Given the description of an element on the screen output the (x, y) to click on. 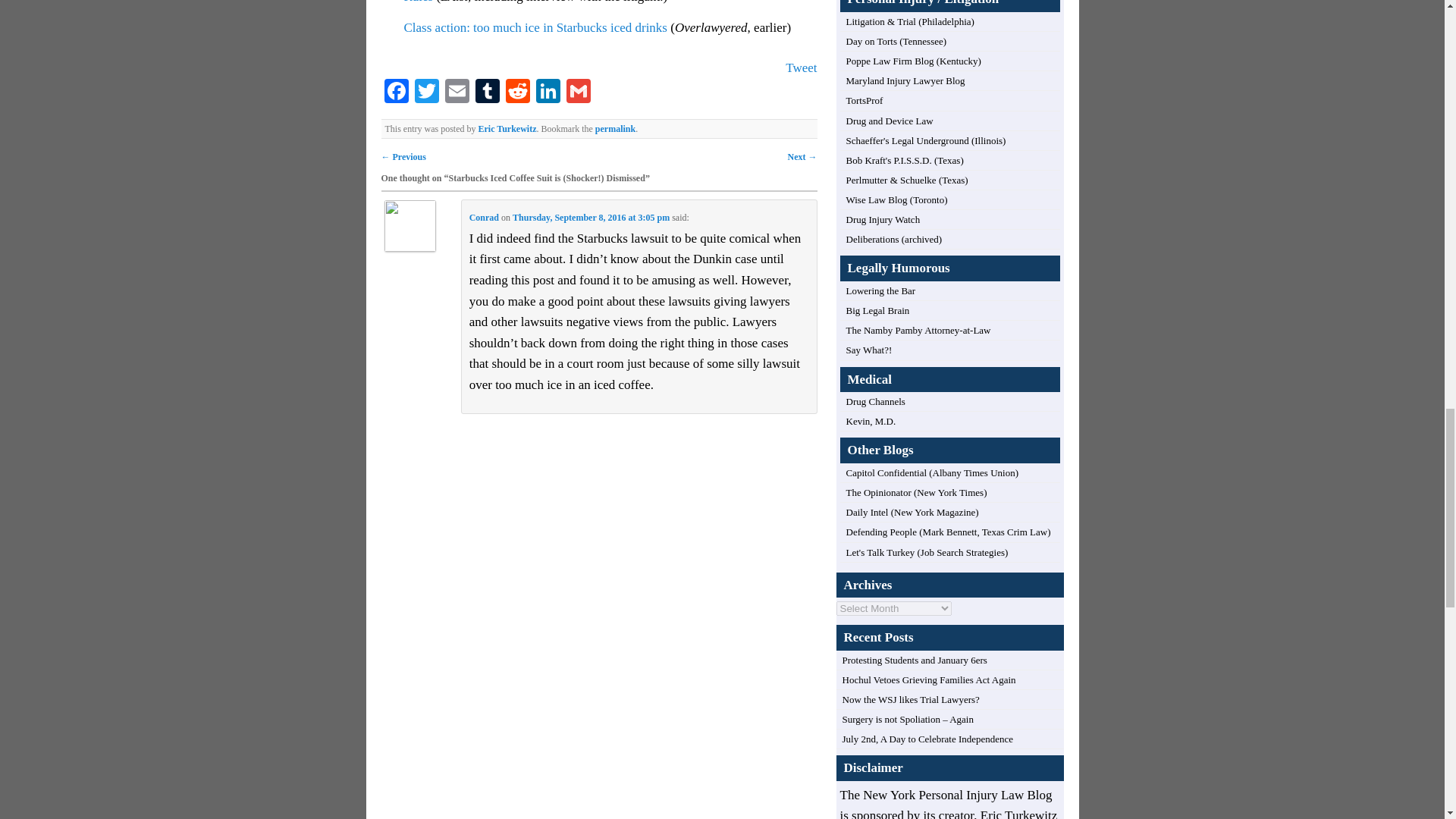
Tweet (801, 67)
Twitter (425, 92)
Email (456, 92)
Email (456, 92)
permalink (614, 128)
Tumblr (486, 92)
Conrad (483, 217)
LinkedIn (547, 92)
LinkedIn (547, 92)
Gmail (577, 92)
Thursday, September 8, 2016 at 3:05 pm (590, 217)
Facebook (395, 92)
Twitter (425, 92)
Reddit (517, 92)
Tumblr (486, 92)
